Given the description of an element on the screen output the (x, y) to click on. 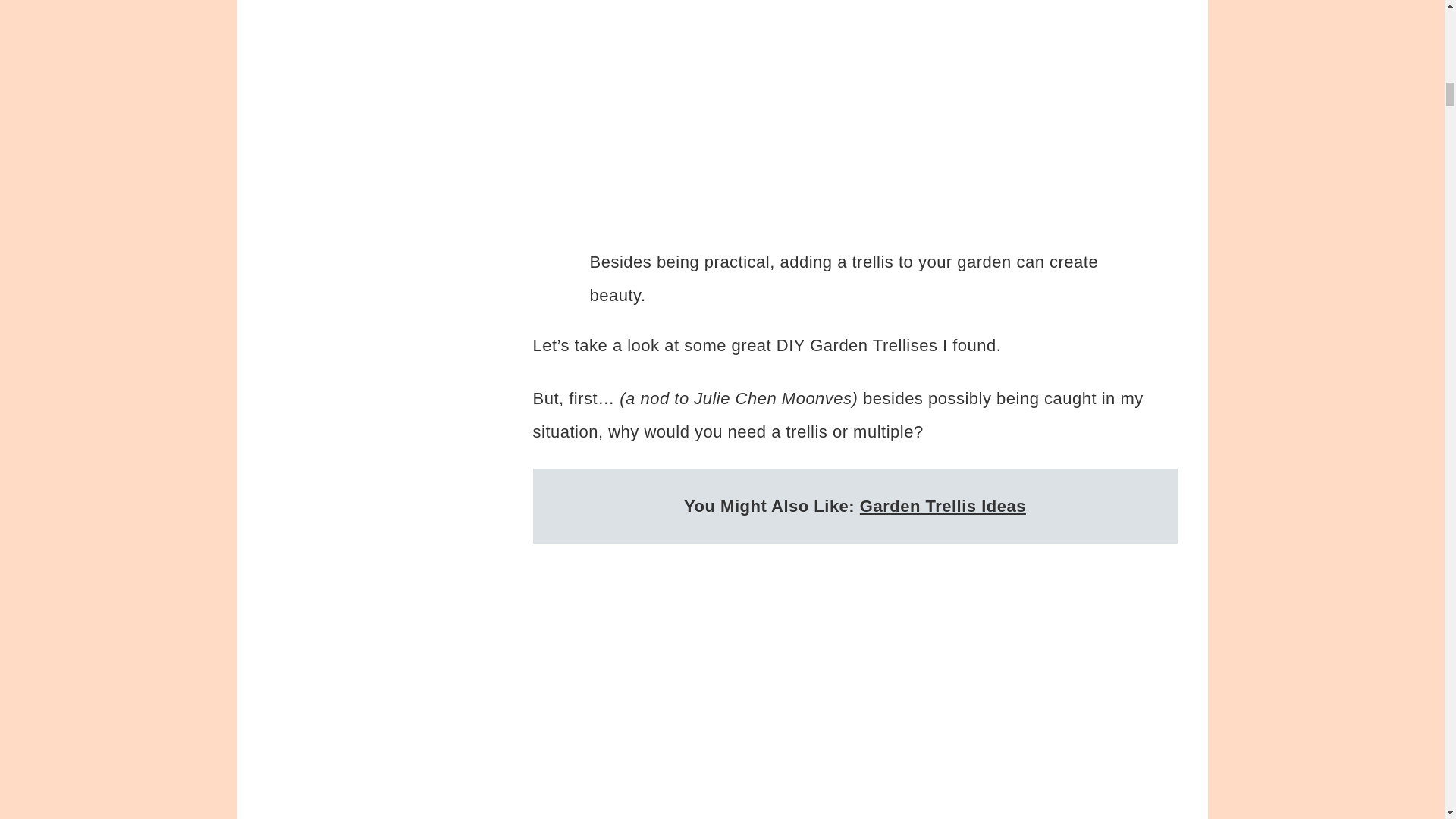
Garden Trellis Ideas (943, 505)
